Given the description of an element on the screen output the (x, y) to click on. 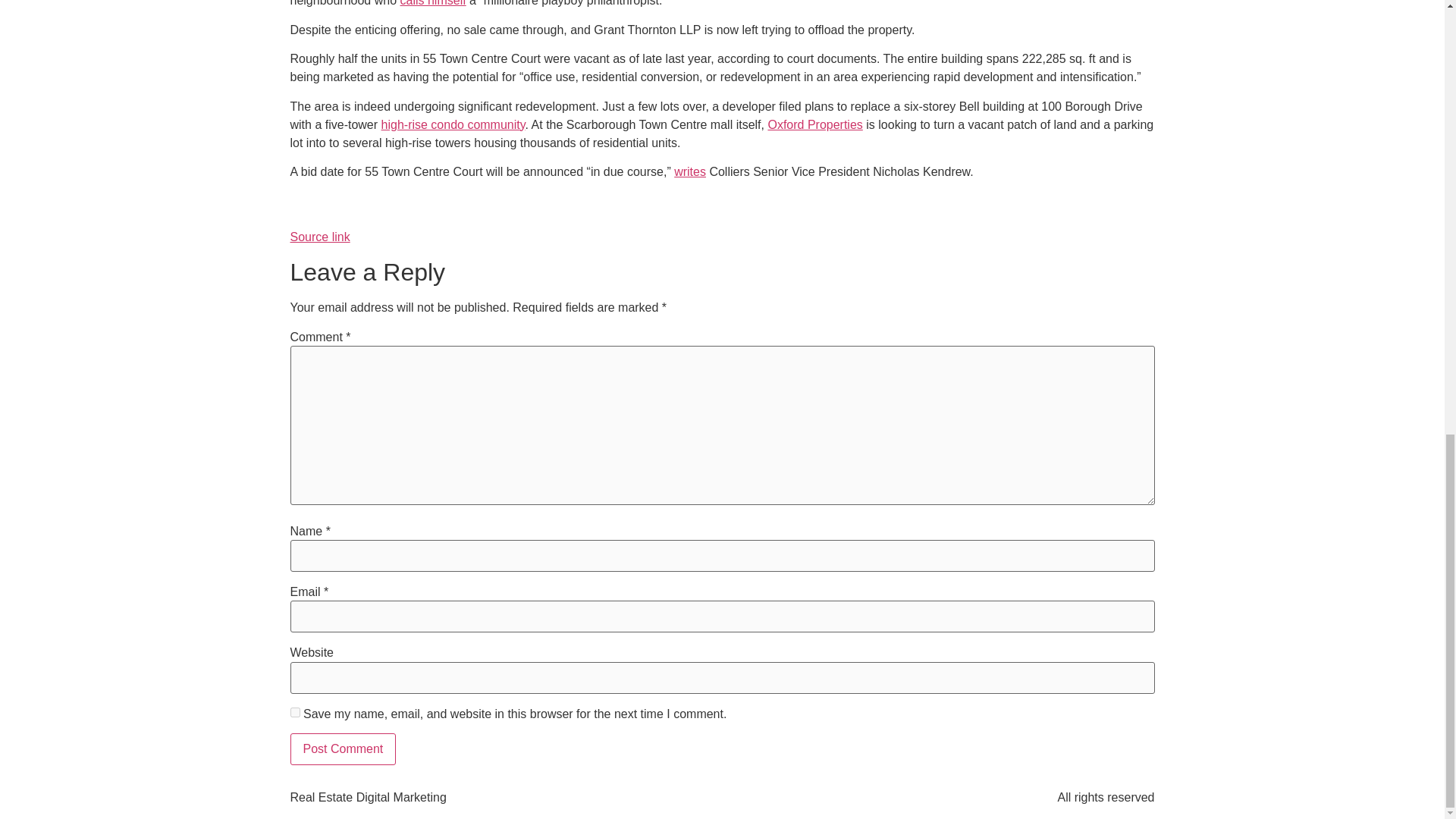
Oxford Properties (814, 124)
calls himself (432, 3)
Post Comment (342, 748)
high-rise condo community (453, 124)
writes (690, 171)
Source link (319, 236)
Post Comment (342, 748)
yes (294, 712)
